Given the description of an element on the screen output the (x, y) to click on. 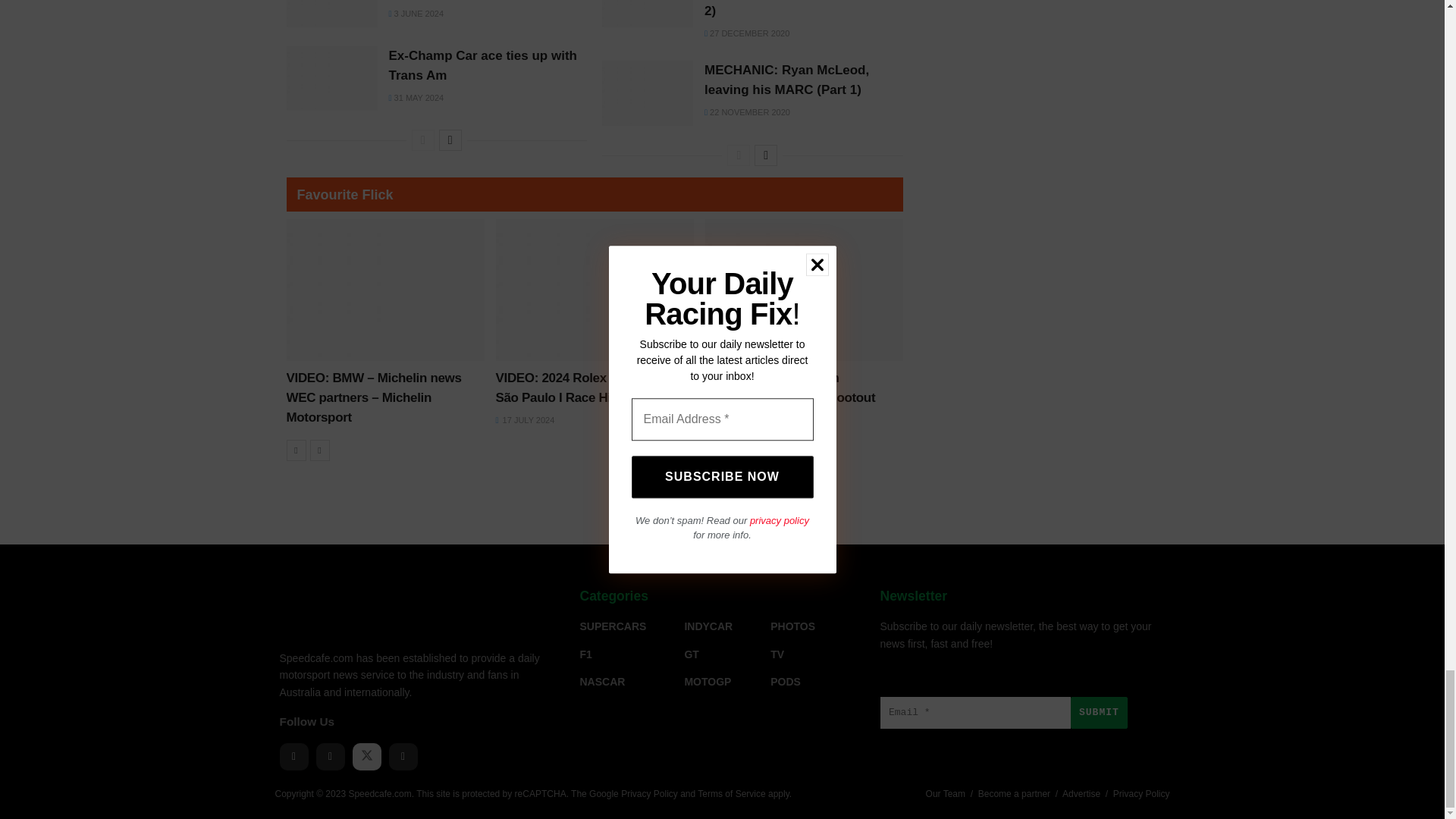
SUBMIT (1098, 712)
